Given the description of an element on the screen output the (x, y) to click on. 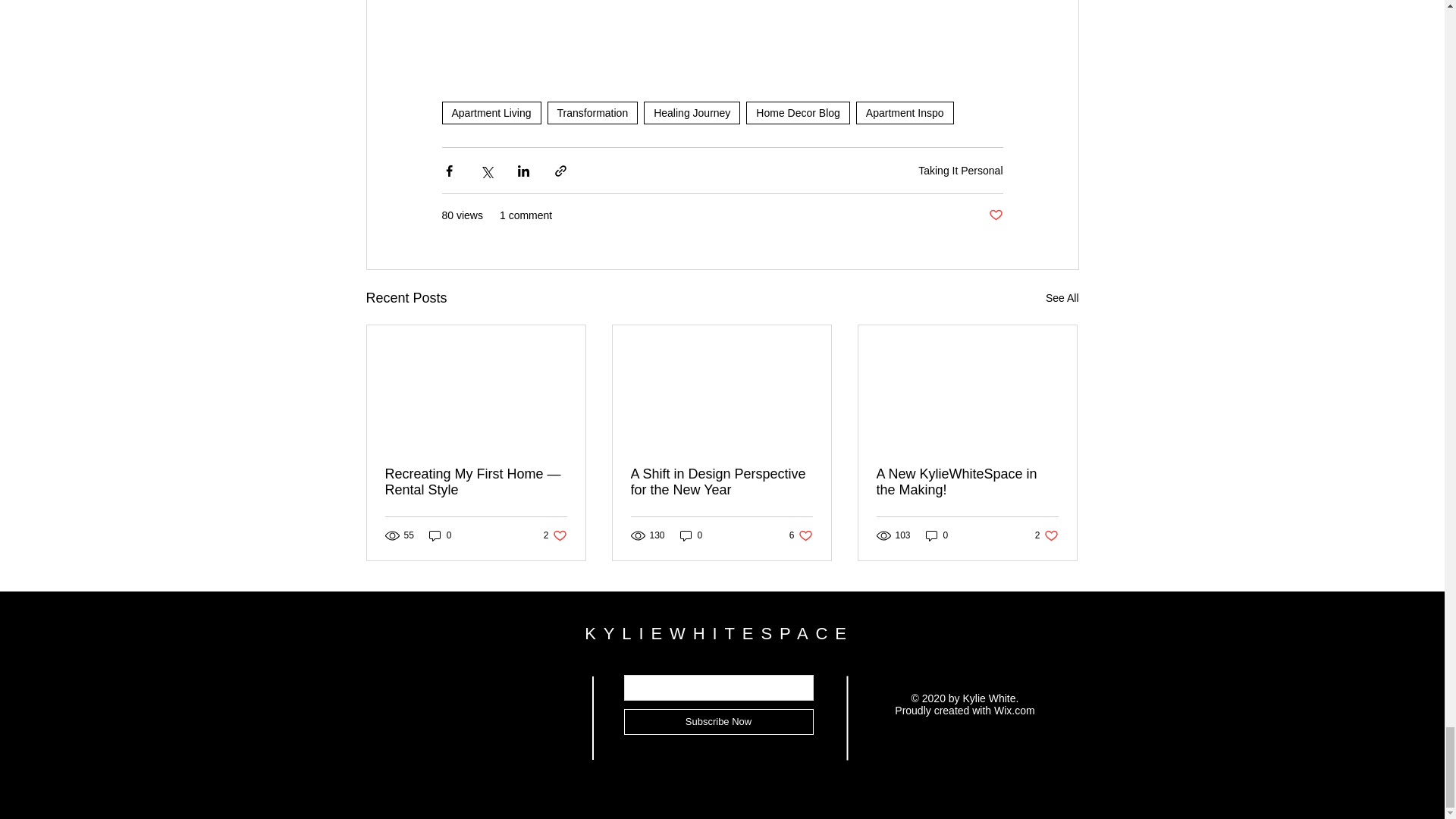
Transformation (593, 112)
Taking It Personal (960, 170)
A New KylieWhiteSpace in the Making! (967, 481)
Healing Journey (691, 112)
0 (691, 535)
A Shift in Design Perspective for the New Year (721, 481)
See All (800, 535)
Home Decor Blog (1061, 298)
Apartment Living (797, 112)
Apartment Inspo (490, 112)
0 (555, 535)
Post not marked as liked (904, 112)
